Given the description of an element on the screen output the (x, y) to click on. 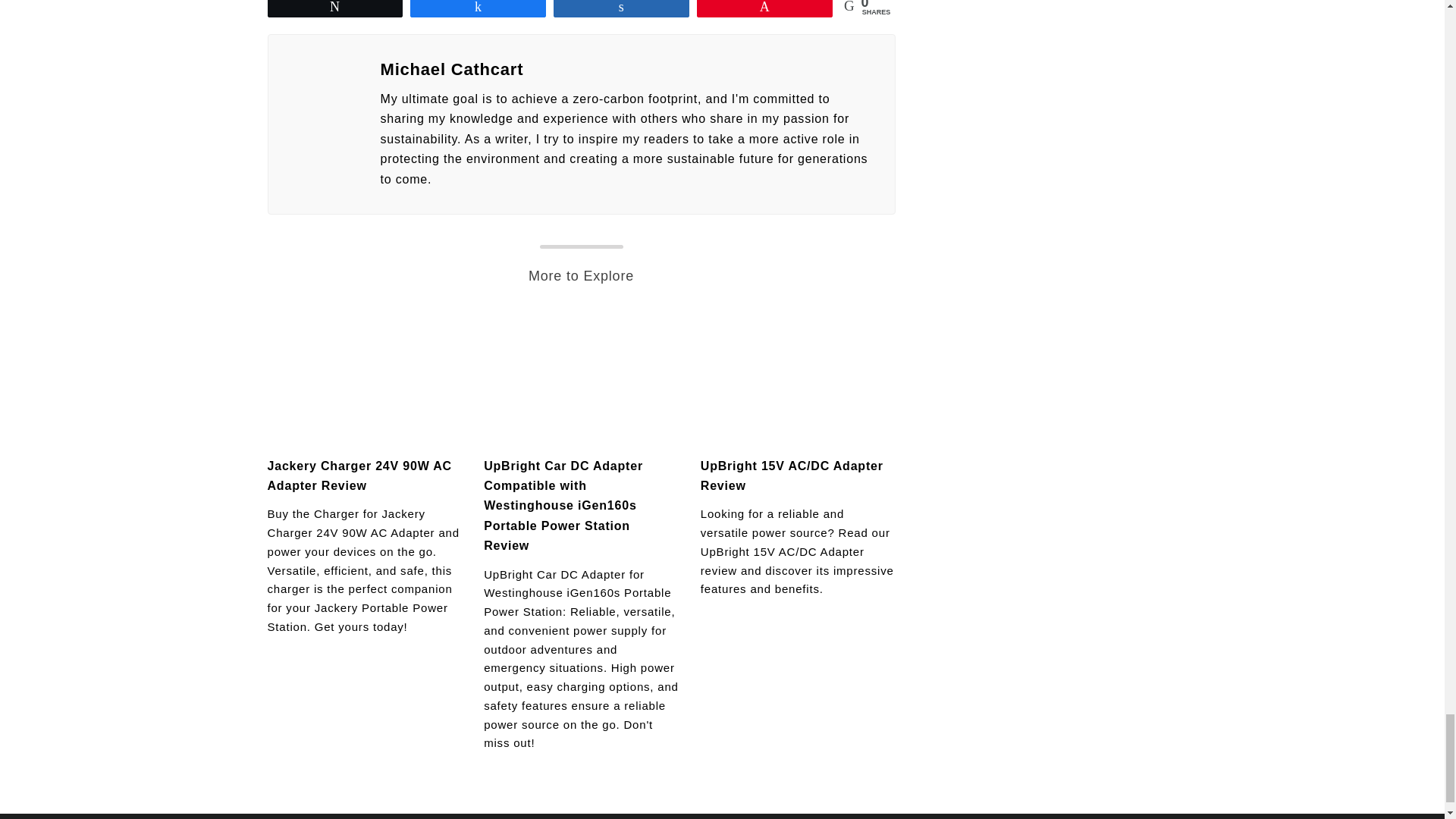
link to Jackery Charger 24V 90W AC Adapter Review (363, 377)
Jackery Charger 24V 90W AC Adapter Review (358, 475)
Michael Cathcart (628, 69)
